Given the description of an element on the screen output the (x, y) to click on. 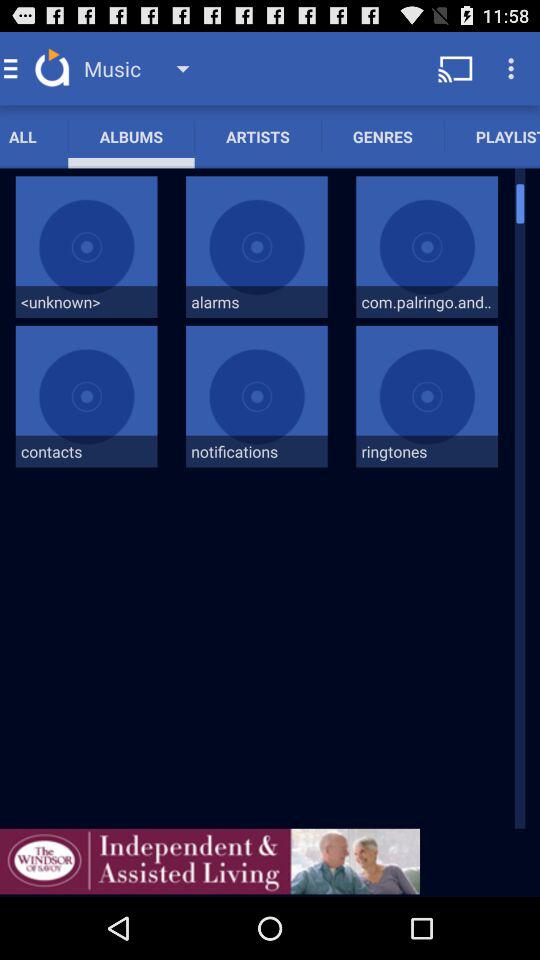
advertisement (210, 861)
